Given the description of an element on the screen output the (x, y) to click on. 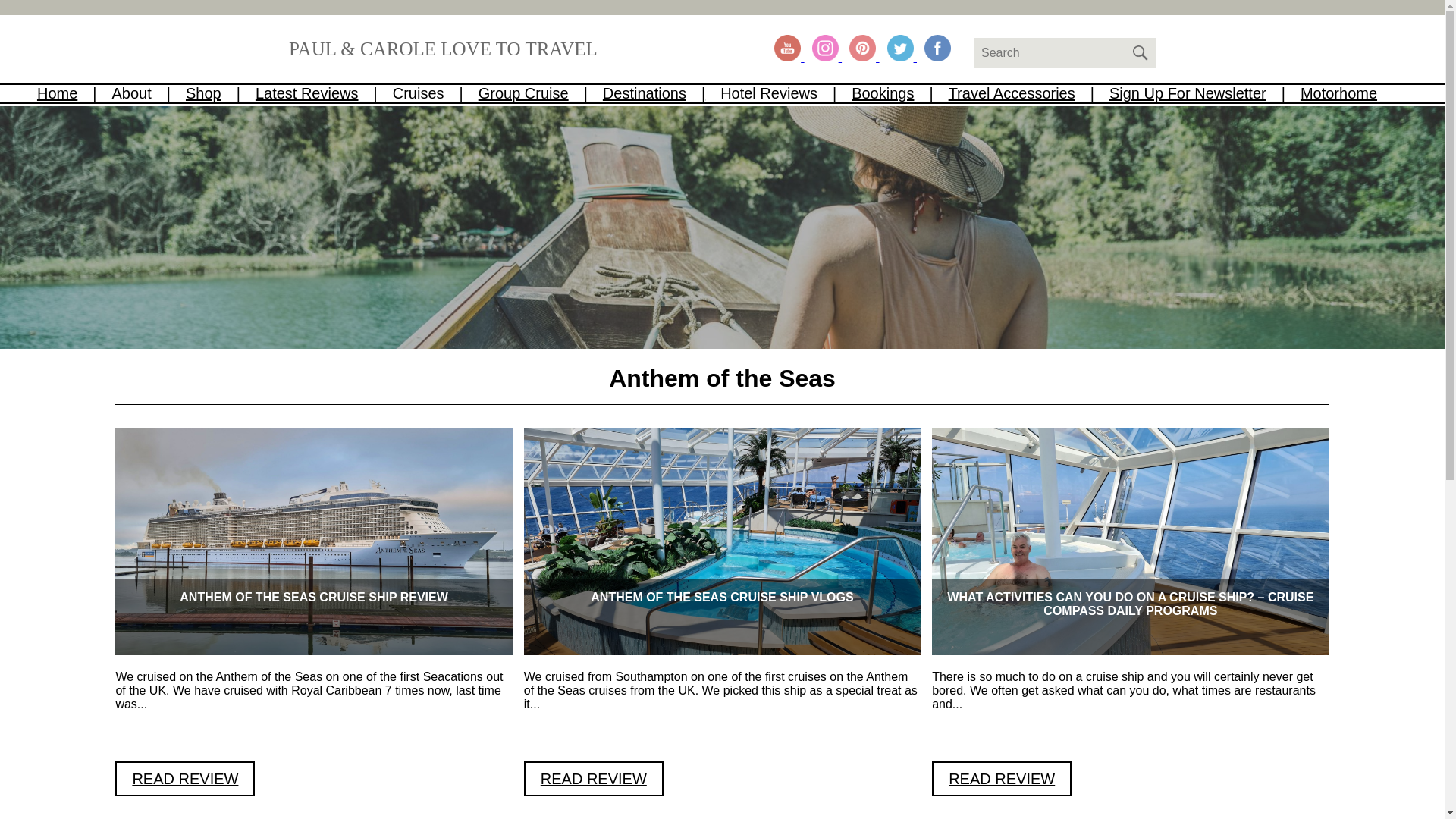
Anthem of the Seas Cruise Ship Vlogs (593, 778)
Latest Reviews (324, 93)
Group Cruise (540, 93)
About (149, 93)
Home (74, 93)
Anthem of the Seas Cruise Ship Review (184, 778)
Shop (221, 93)
Destinations (661, 93)
Cruises (436, 93)
